Given the description of an element on the screen output the (x, y) to click on. 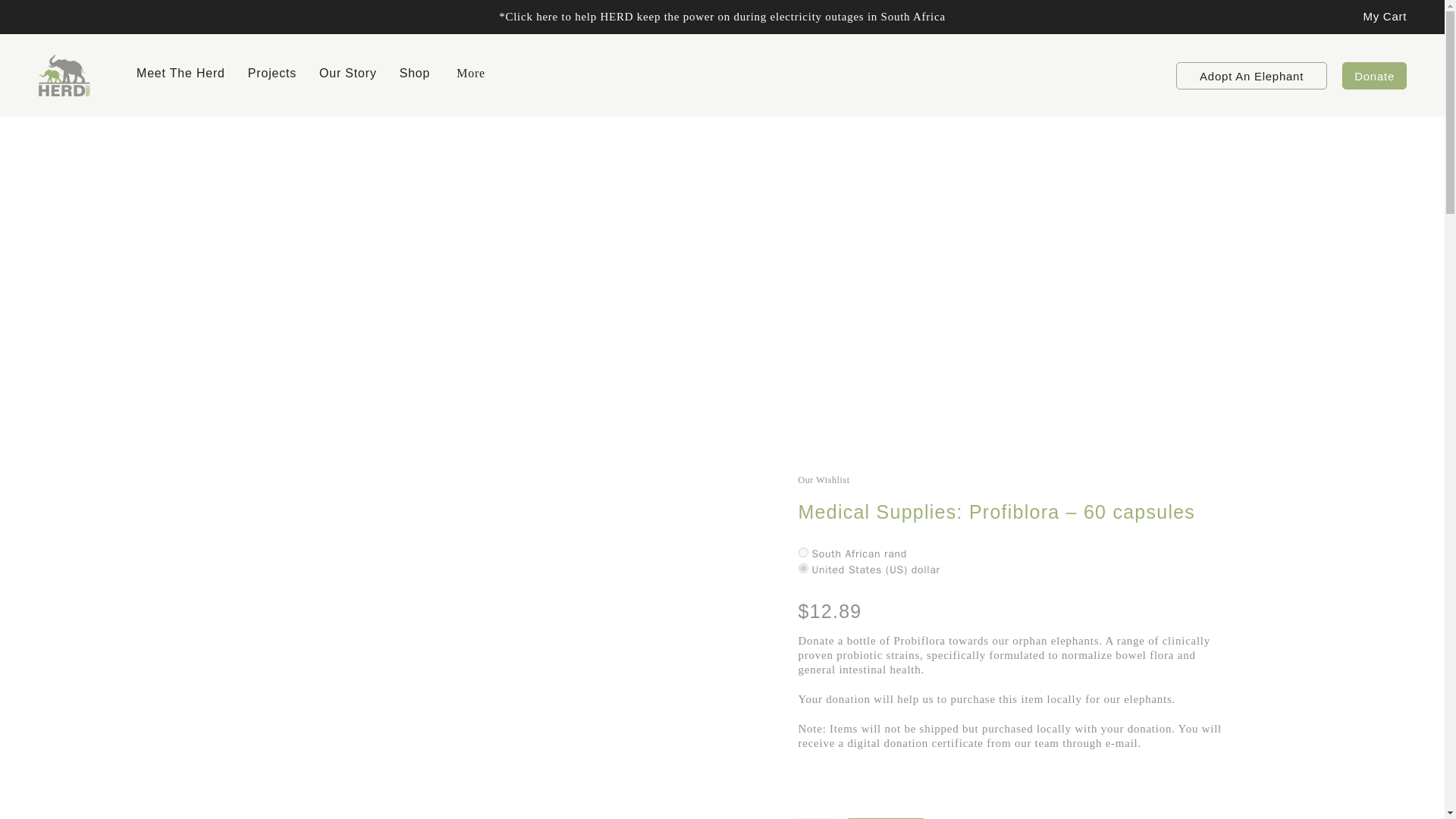
More (468, 75)
Donate (1374, 75)
Shop (414, 75)
Our Story (347, 75)
ZAR (802, 552)
Projects (272, 75)
Our Wishlist (1015, 479)
Meet The Herd (180, 75)
Adopt An Elephant (1251, 75)
